Given the description of an element on the screen output the (x, y) to click on. 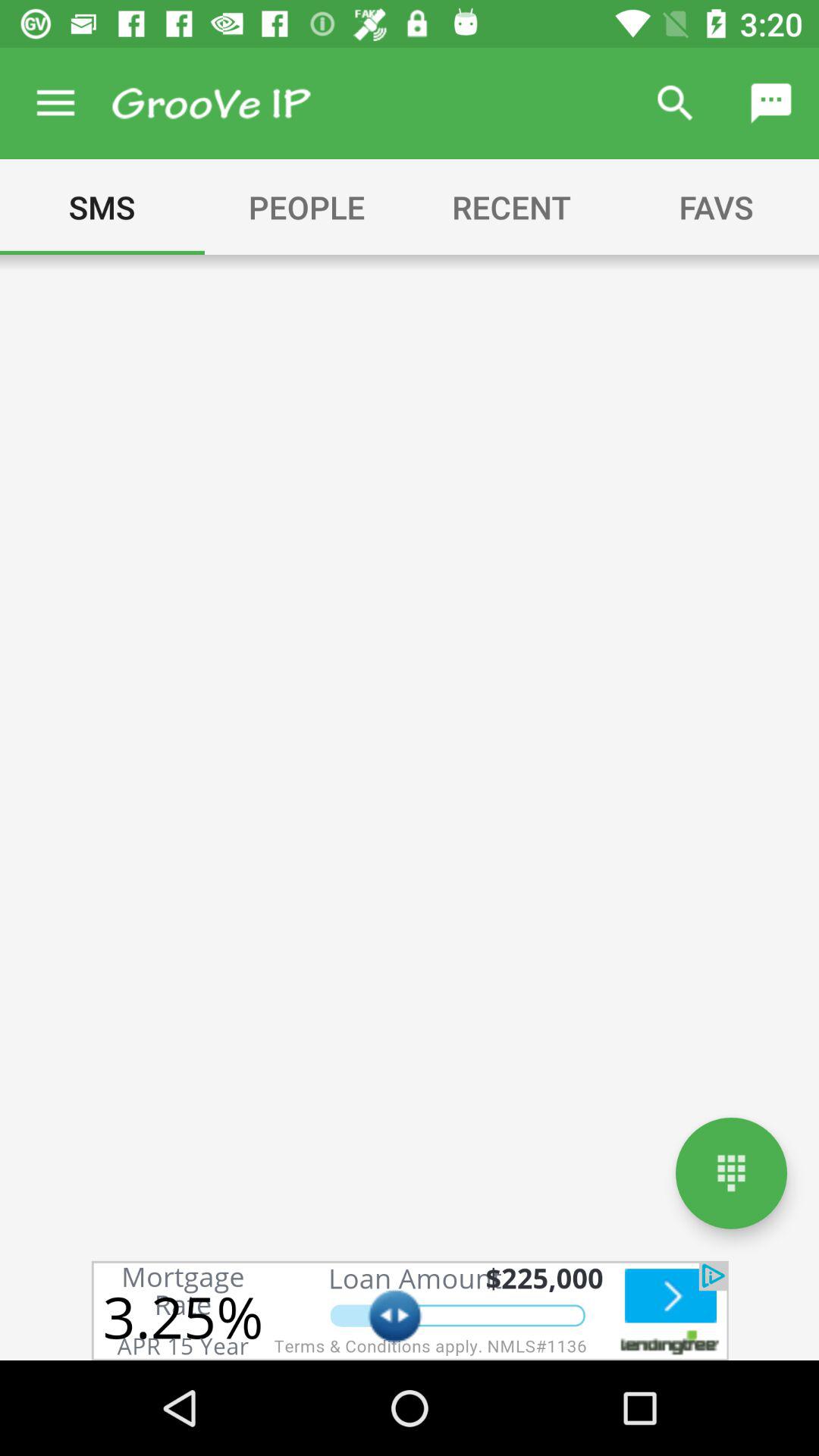
go to homepage (731, 1173)
